Given the description of an element on the screen output the (x, y) to click on. 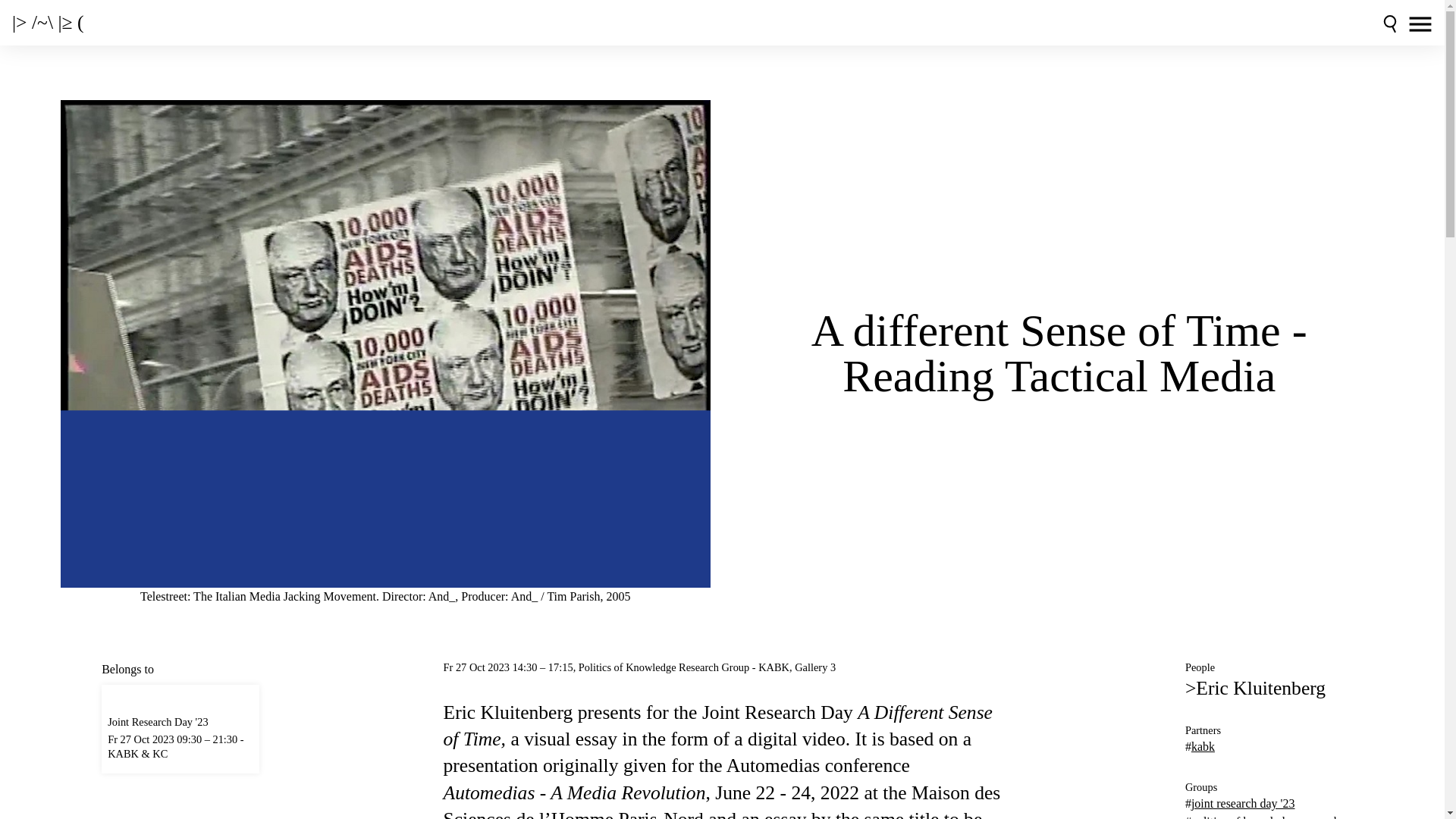
kabk (1202, 746)
politics of knowledge research group '22-'23 (1262, 816)
Eric Kluitenberg (1259, 688)
joint research day '23 (1243, 802)
